Given the description of an element on the screen output the (x, y) to click on. 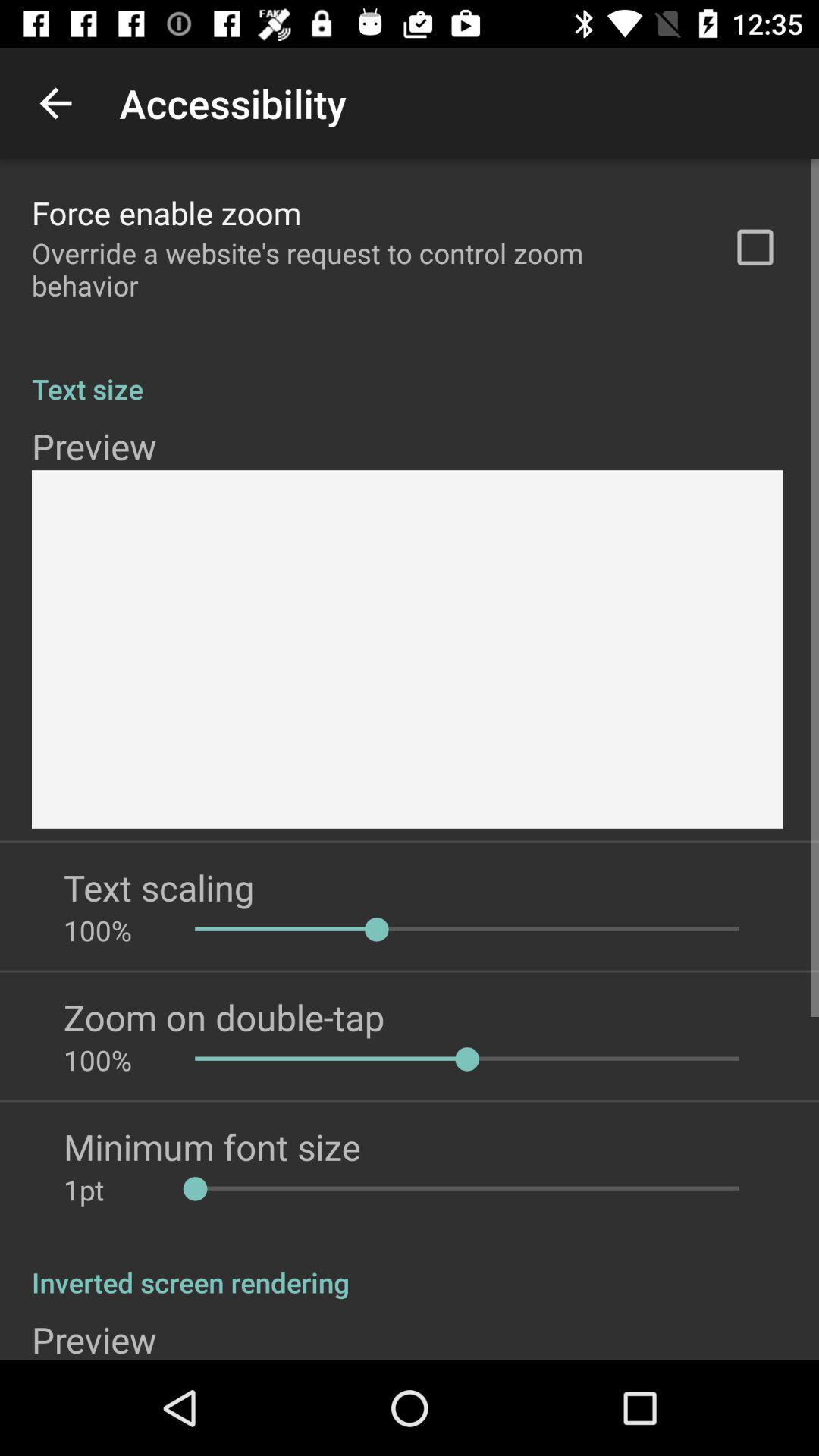
turn off item next to accessibility item (55, 103)
